Given the description of an element on the screen output the (x, y) to click on. 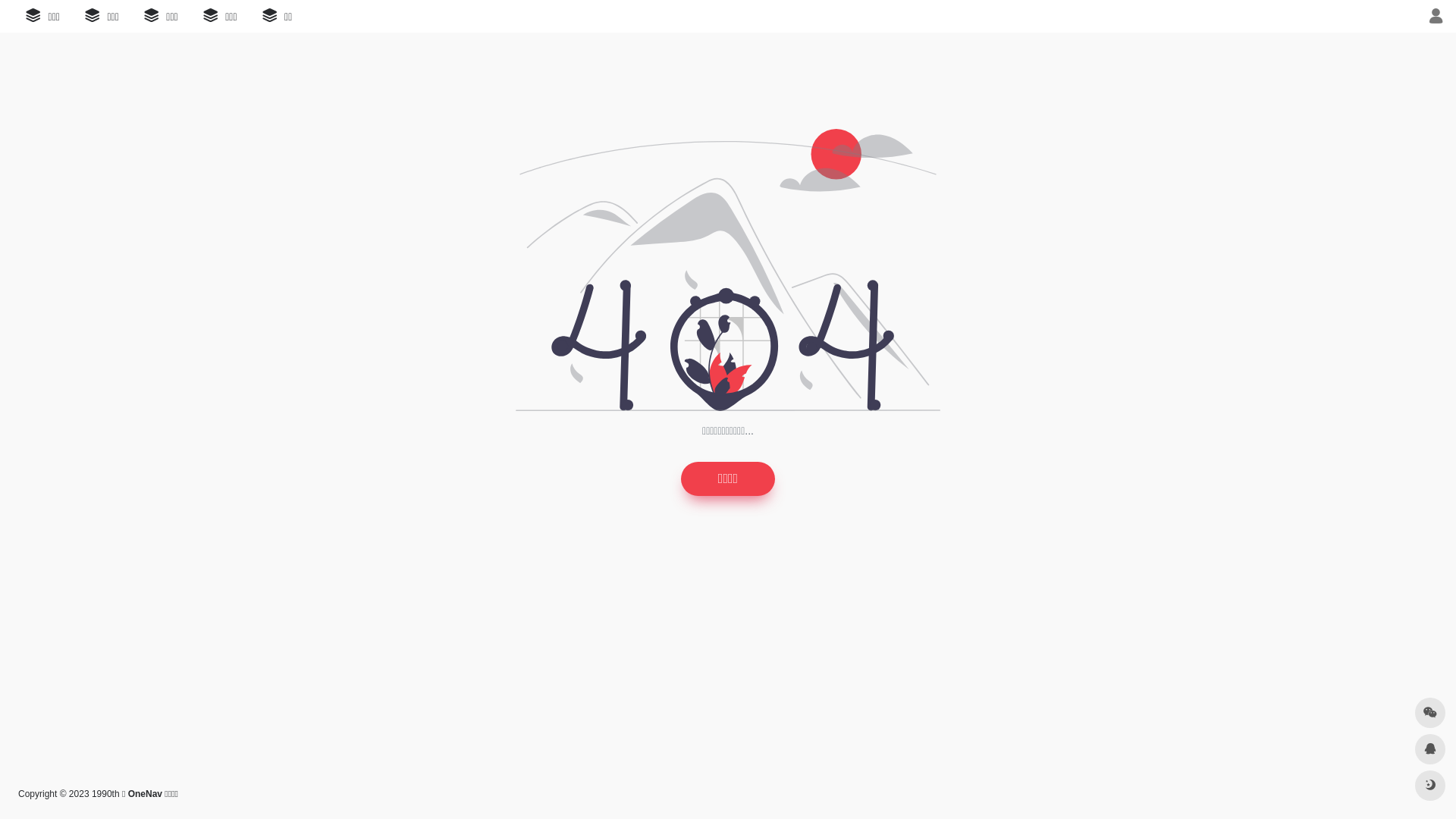
OneNav Element type: text (144, 793)
1990th Element type: text (105, 793)
